Given the description of an element on the screen output the (x, y) to click on. 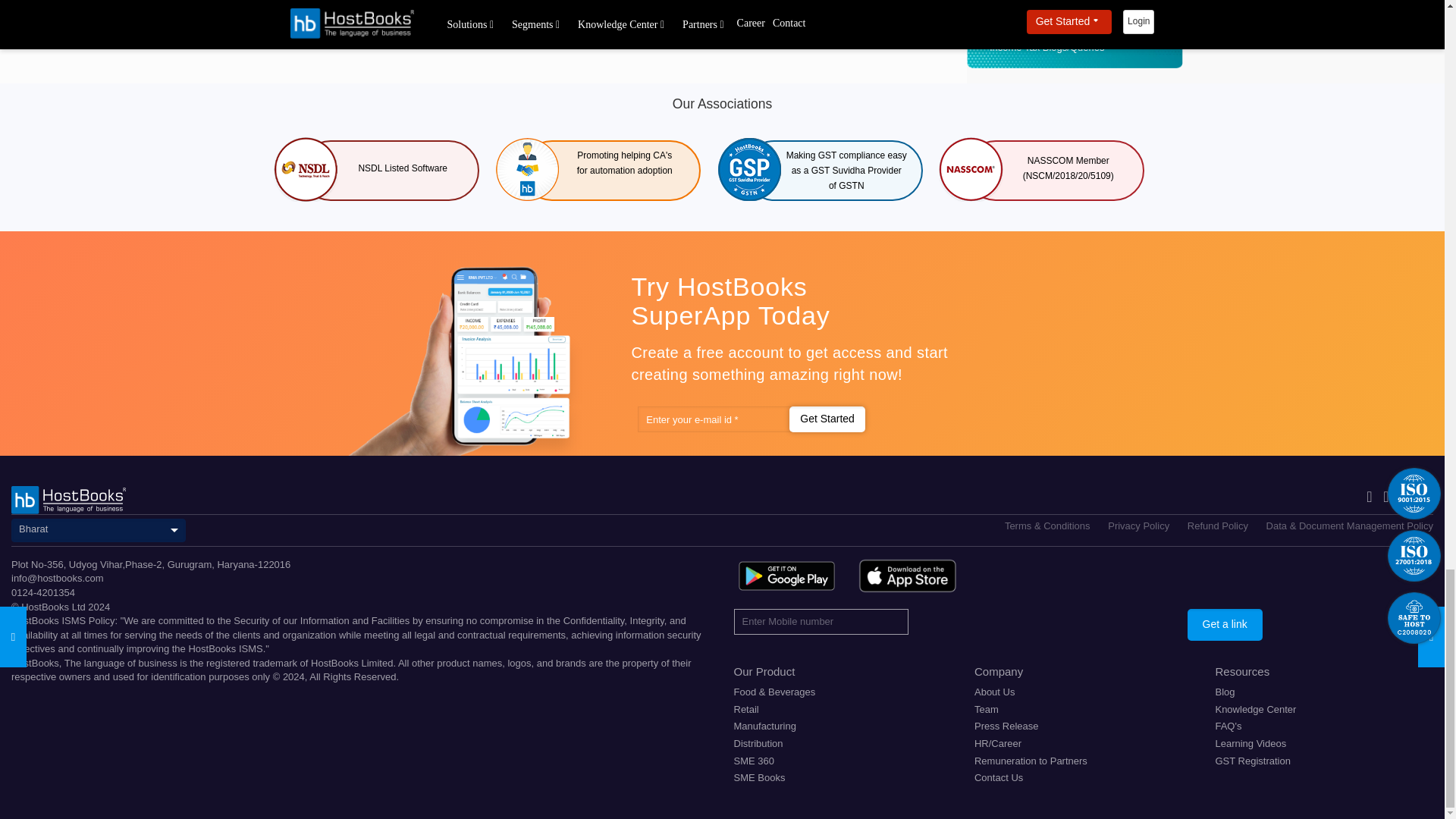
Get Started (826, 419)
Refund Policy (1217, 525)
Privacy Policy (1138, 525)
Document Management Policy (1349, 525)
Download HostBooks Mobile App! (907, 575)
Download HostBooks Mobile App! (786, 575)
Get a link (1225, 624)
